Given the description of an element on the screen output the (x, y) to click on. 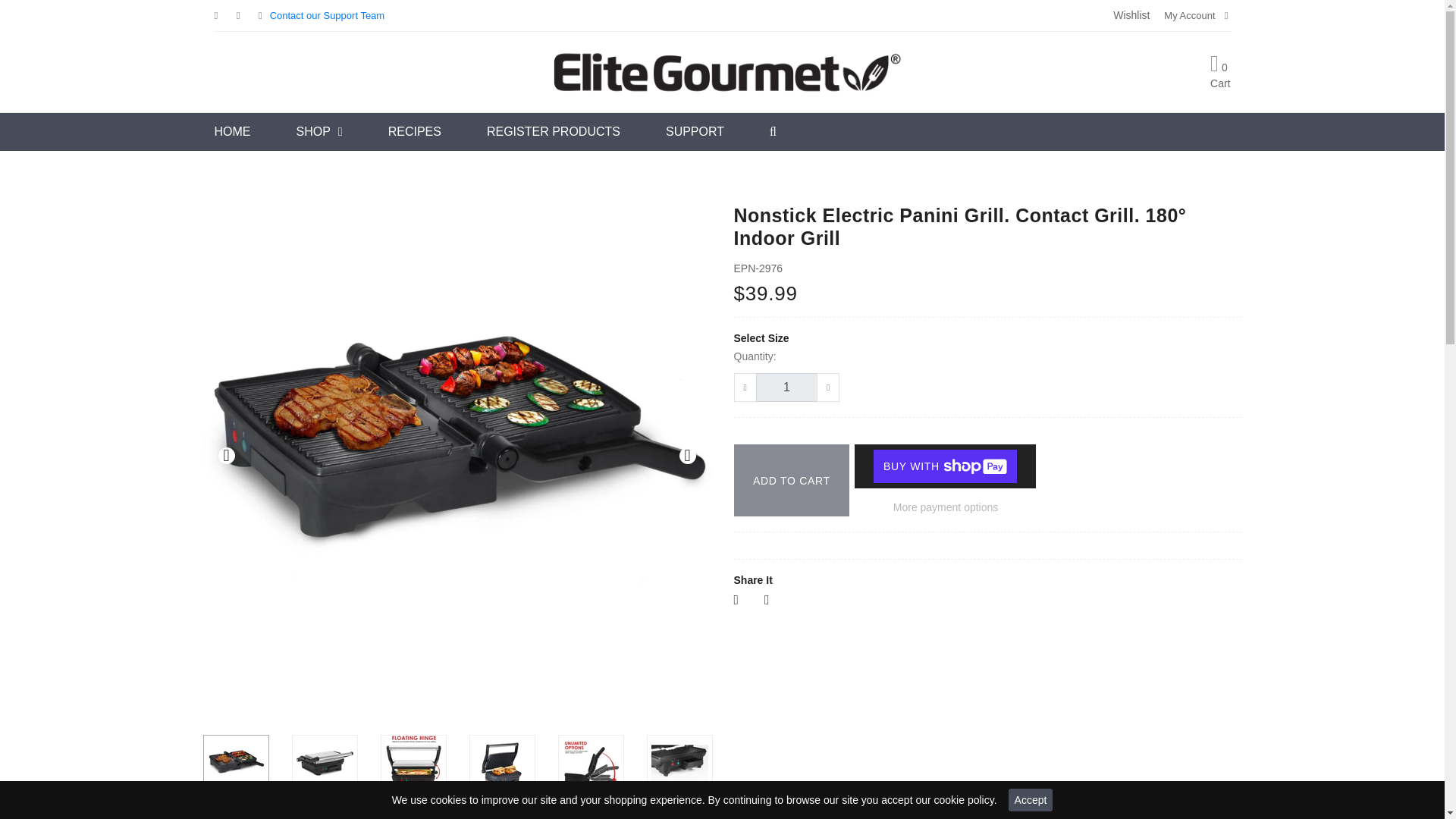
HOME (231, 131)
Wishlist (1131, 15)
Accept (1030, 799)
SHOP (319, 131)
SHOP (319, 131)
HOME (231, 131)
1 (785, 387)
Contact our Support Team (327, 15)
